Given the description of an element on the screen output the (x, y) to click on. 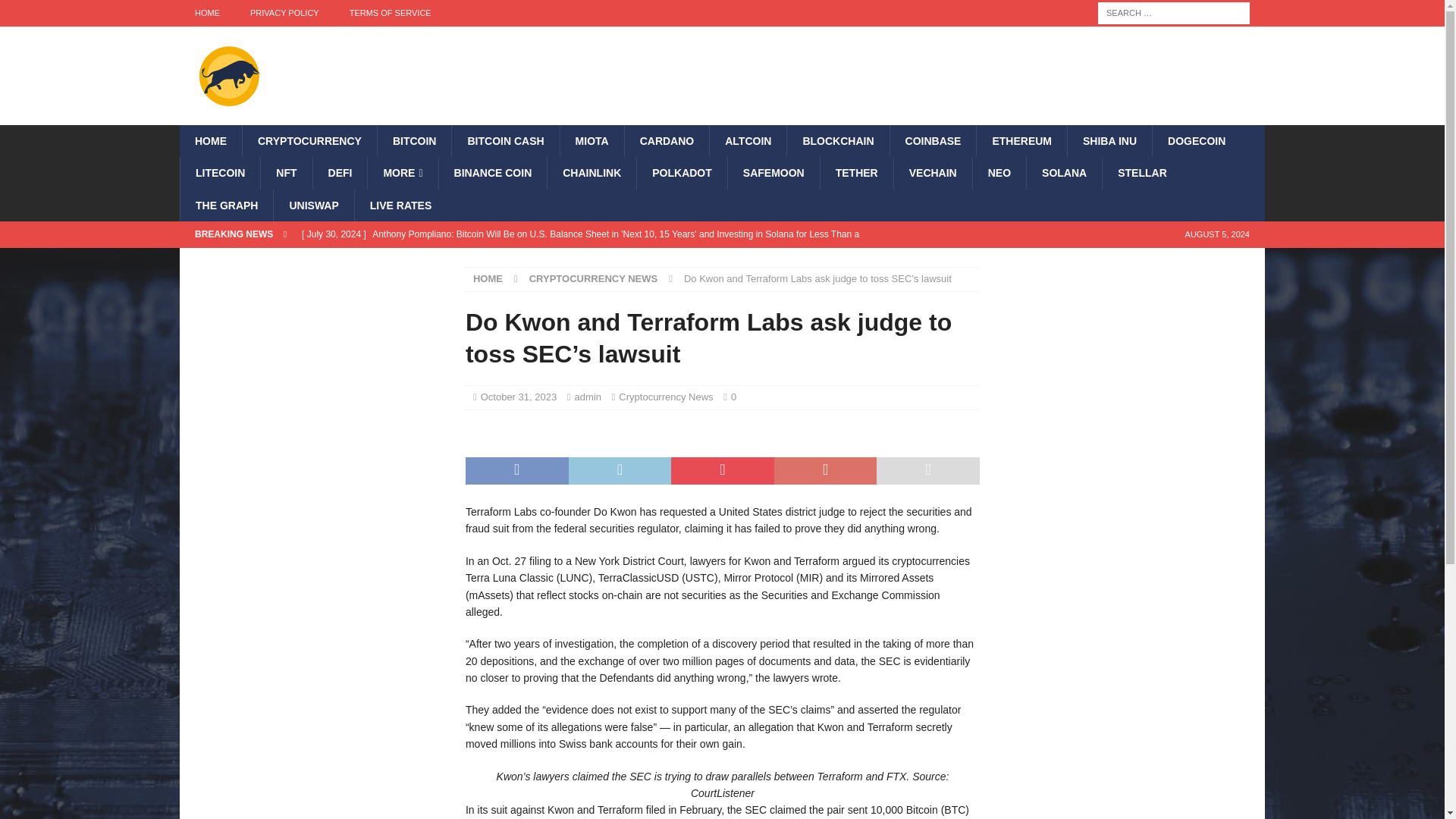
TERMS OF SERVICE (390, 13)
PRIVACY POLICY (284, 13)
Search (56, 11)
HOME (206, 13)
